Given the description of an element on the screen output the (x, y) to click on. 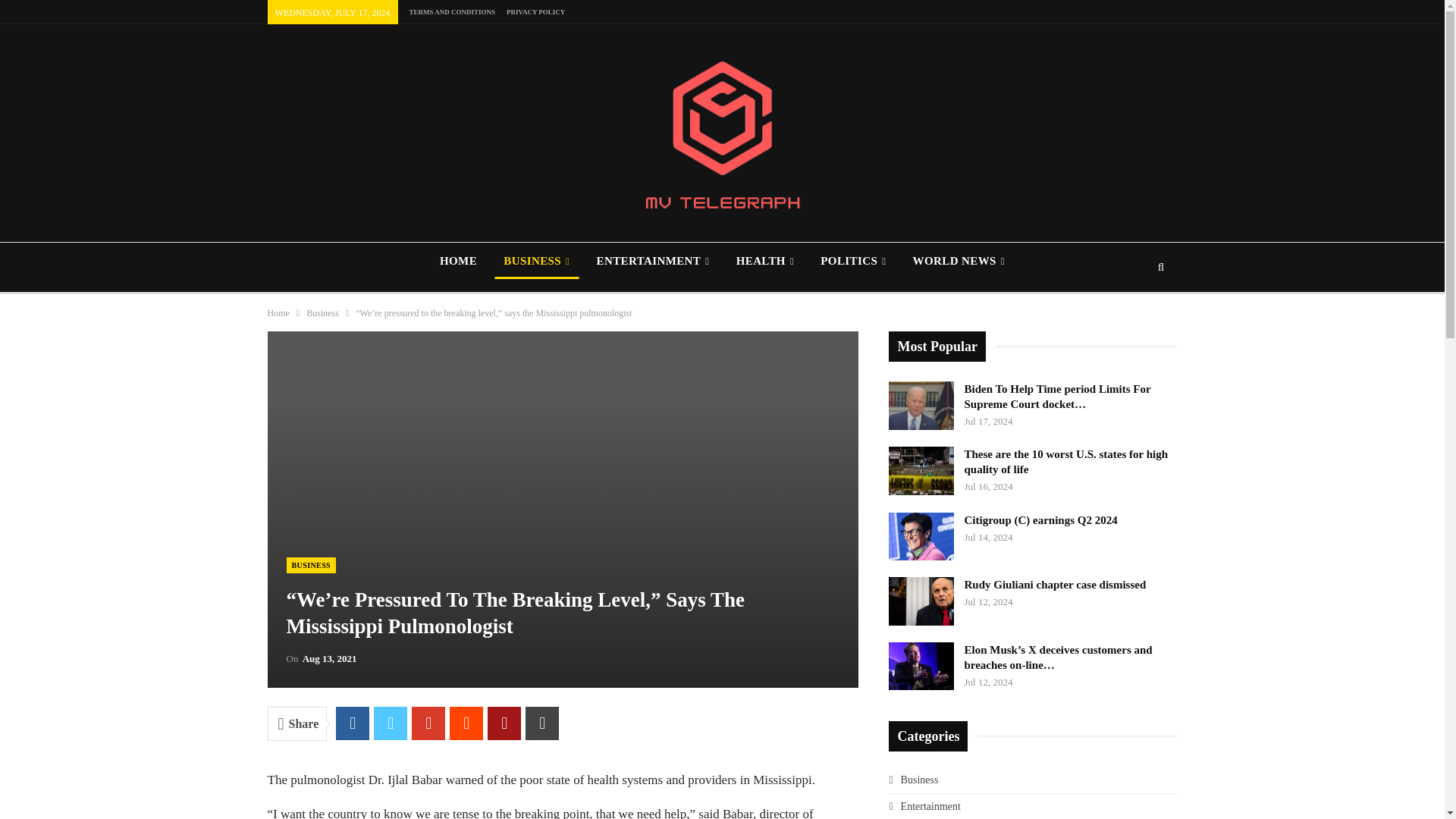
PRIVACY POLICY (535, 11)
TERMS AND CONDITIONS (452, 11)
ENTERTAINMENT (651, 260)
BUSINESS (536, 260)
HEALTH (764, 260)
HOME (458, 260)
